Given the description of an element on the screen output the (x, y) to click on. 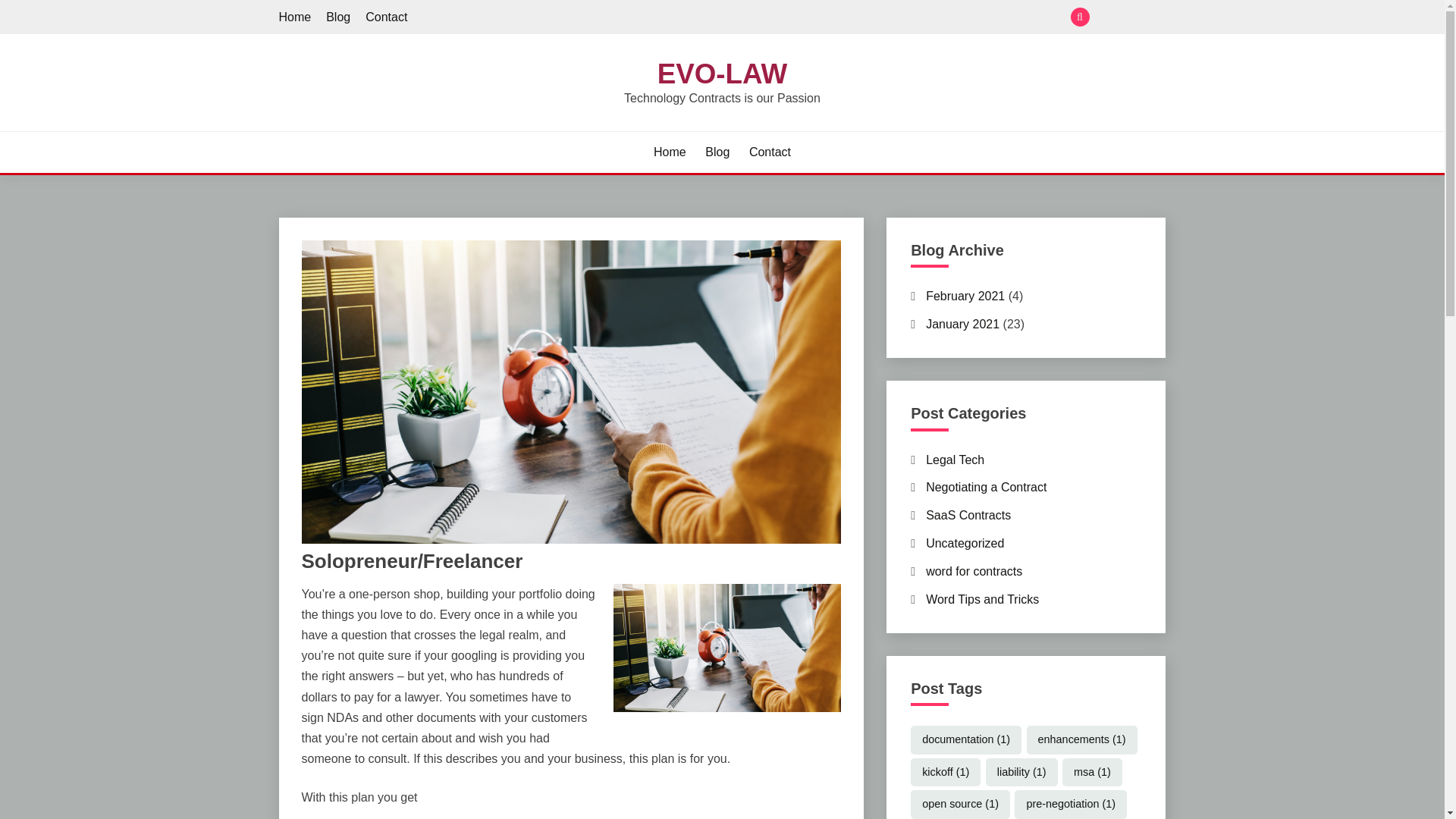
word for contracts (974, 571)
Home (669, 152)
Home (295, 16)
Contact (769, 152)
Word Tips and Tricks (982, 599)
Negotiating a Contract (986, 486)
January 2021 (962, 323)
Blog (338, 16)
Home (1105, 16)
Legal Tech (955, 459)
Blog (1131, 16)
Contact (386, 16)
Contact (1156, 16)
Uncategorized (965, 543)
Blog (716, 152)
